Given the description of an element on the screen output the (x, y) to click on. 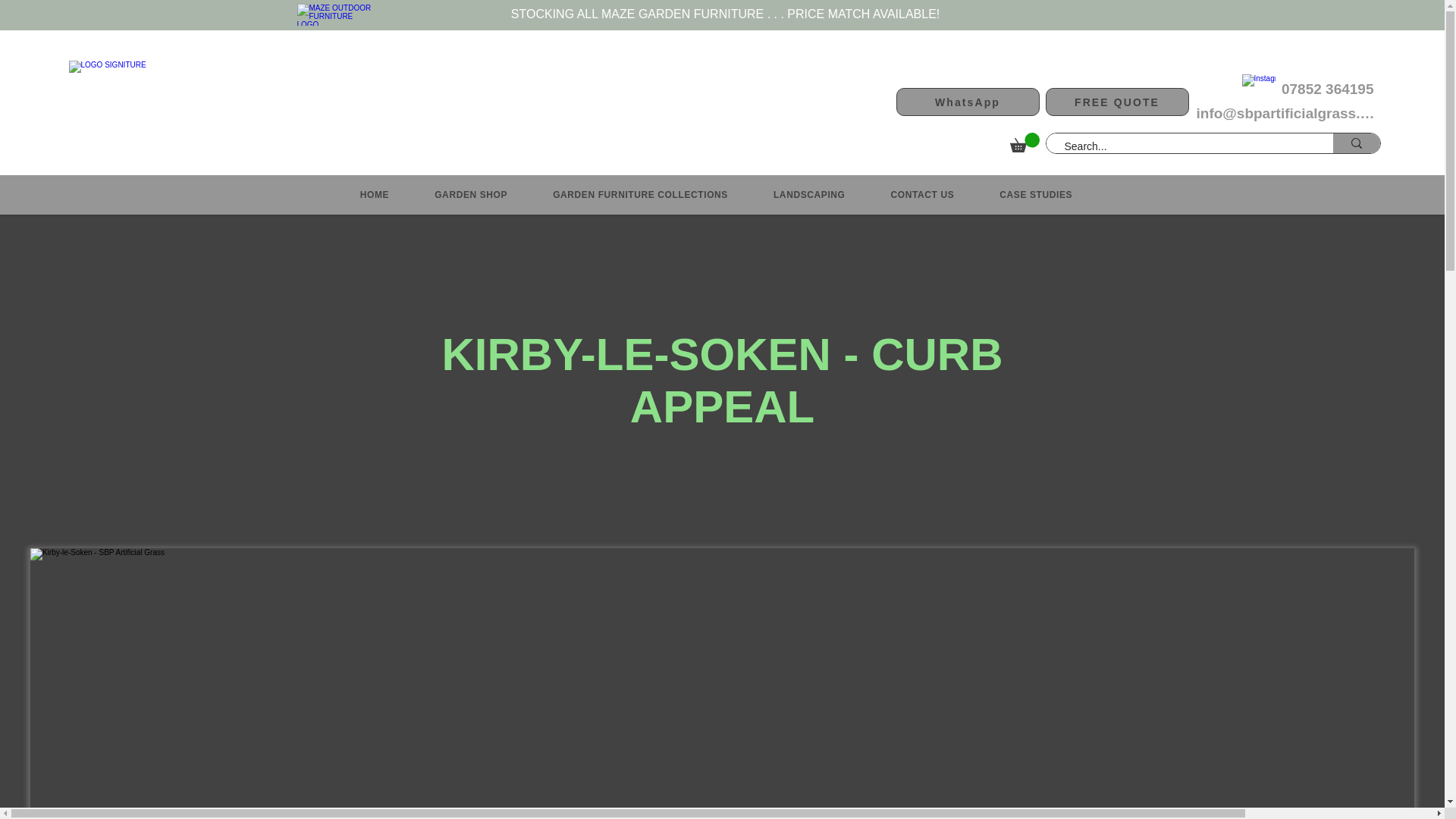
GET A FREE QUOTE (1085, 104)
CONTACT US (922, 194)
HOME (374, 194)
WhatsApp (967, 101)
FREE QUOTE (1116, 101)
CASE STUDIES (1035, 194)
07852 364195 (1329, 88)
